Given the description of an element on the screen output the (x, y) to click on. 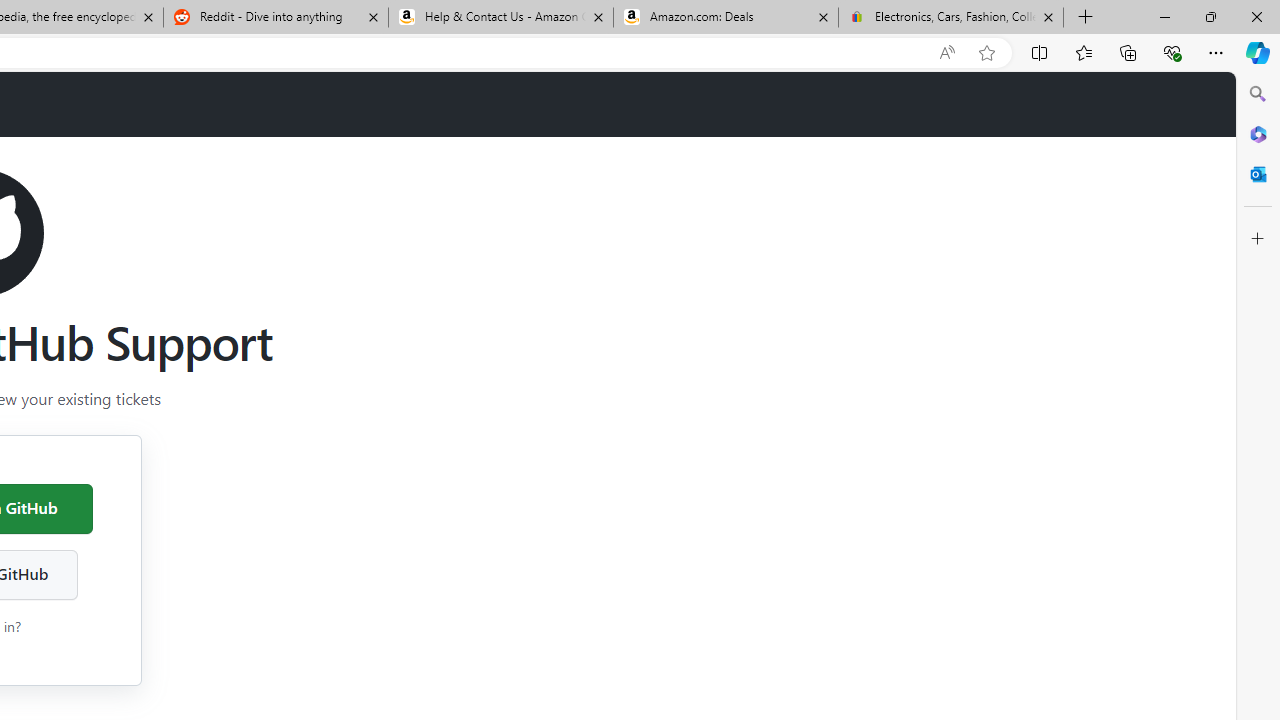
Electronics, Cars, Fashion, Collectibles & More | eBay (950, 17)
Reddit - Dive into anything (275, 17)
Help & Contact Us - Amazon Customer Service (501, 17)
